Given the description of an element on the screen output the (x, y) to click on. 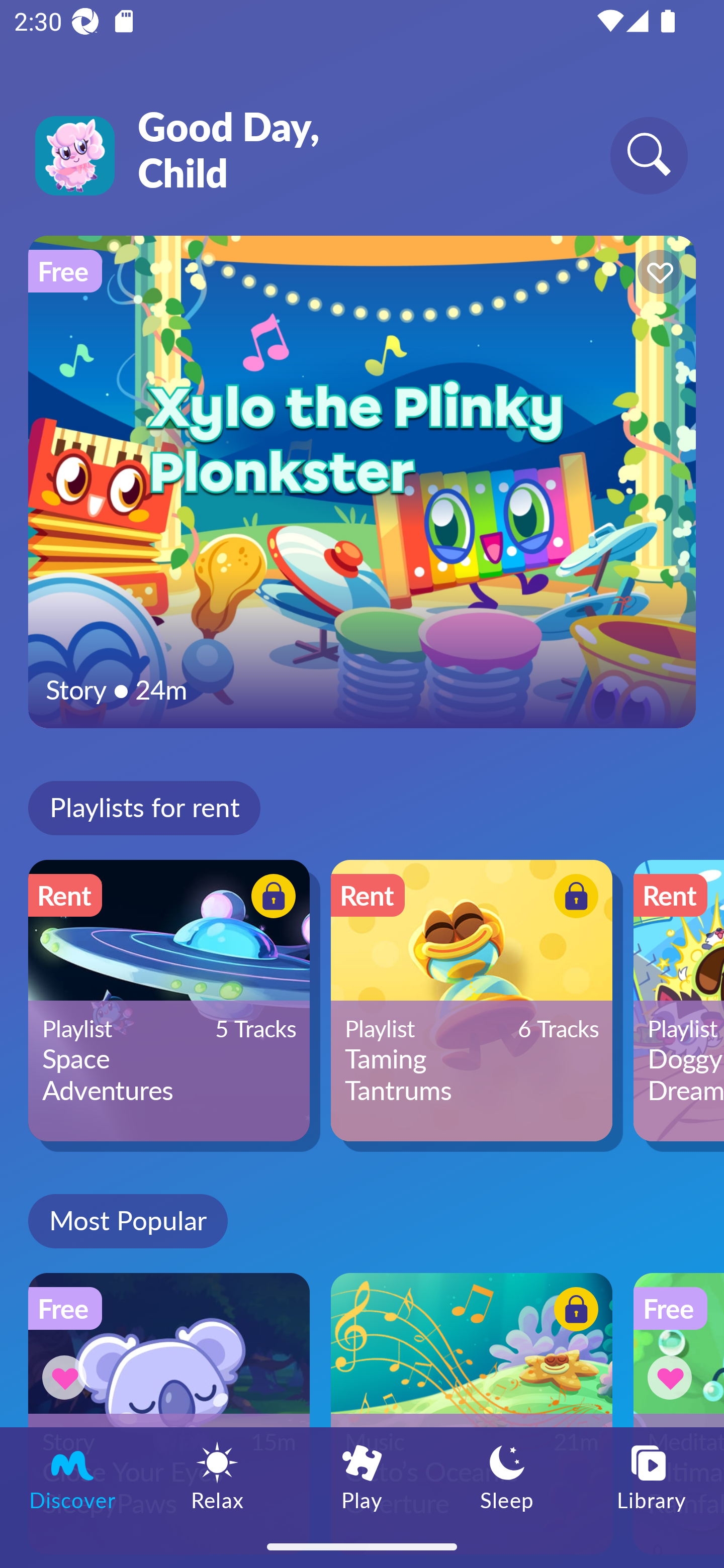
Search (648, 154)
Featured Content Free Button Story ● 24m (361, 481)
Button (656, 274)
Button (269, 898)
Button (573, 898)
Button (573, 1312)
Button (67, 1377)
Button (672, 1377)
Relax (216, 1475)
Play (361, 1475)
Sleep (506, 1475)
Library (651, 1475)
